Given the description of an element on the screen output the (x, y) to click on. 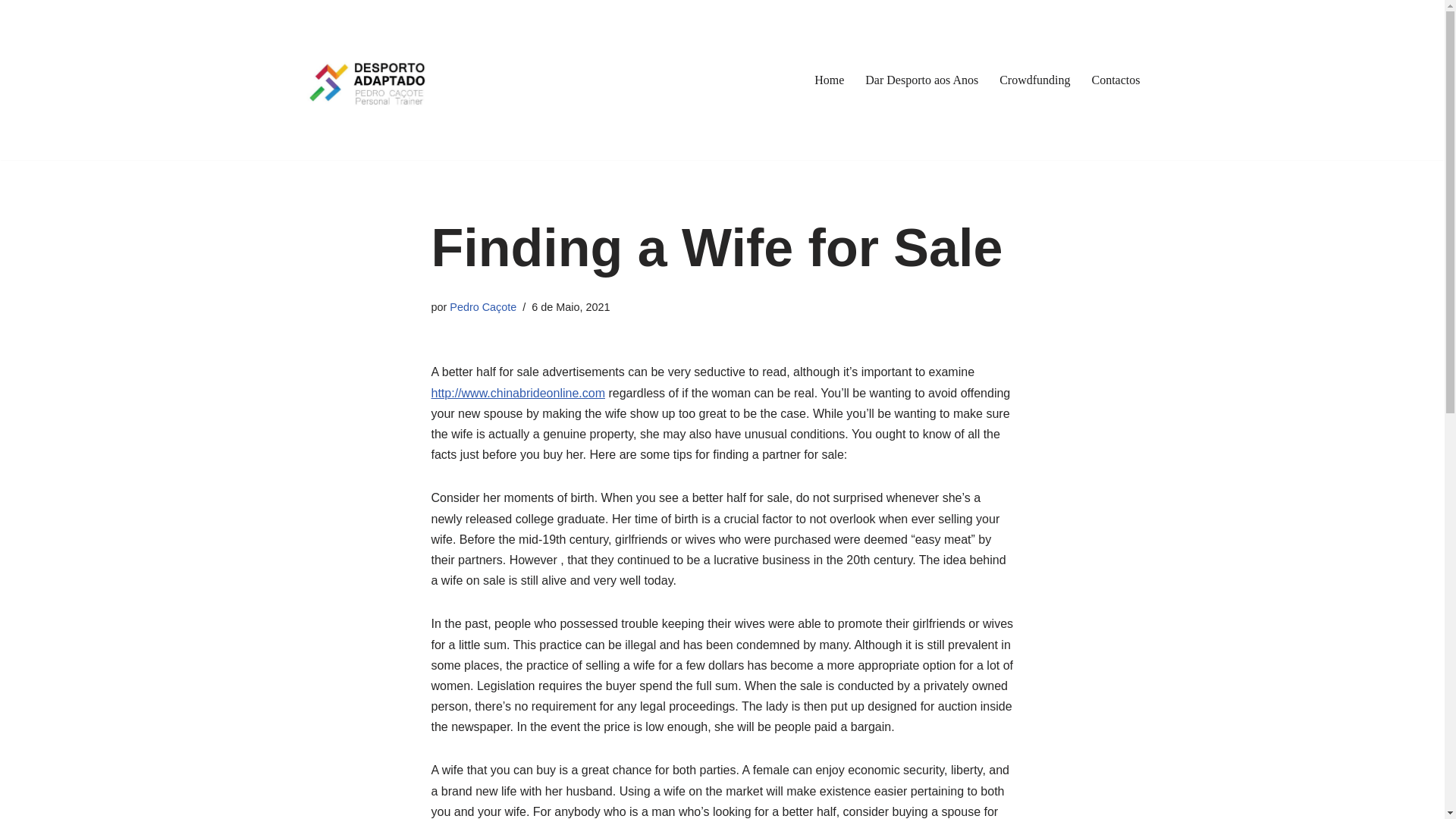
Home (828, 79)
Contactos (1116, 79)
Dar Desporto aos Anos (921, 79)
Crowdfunding (1034, 79)
